Given the description of an element on the screen output the (x, y) to click on. 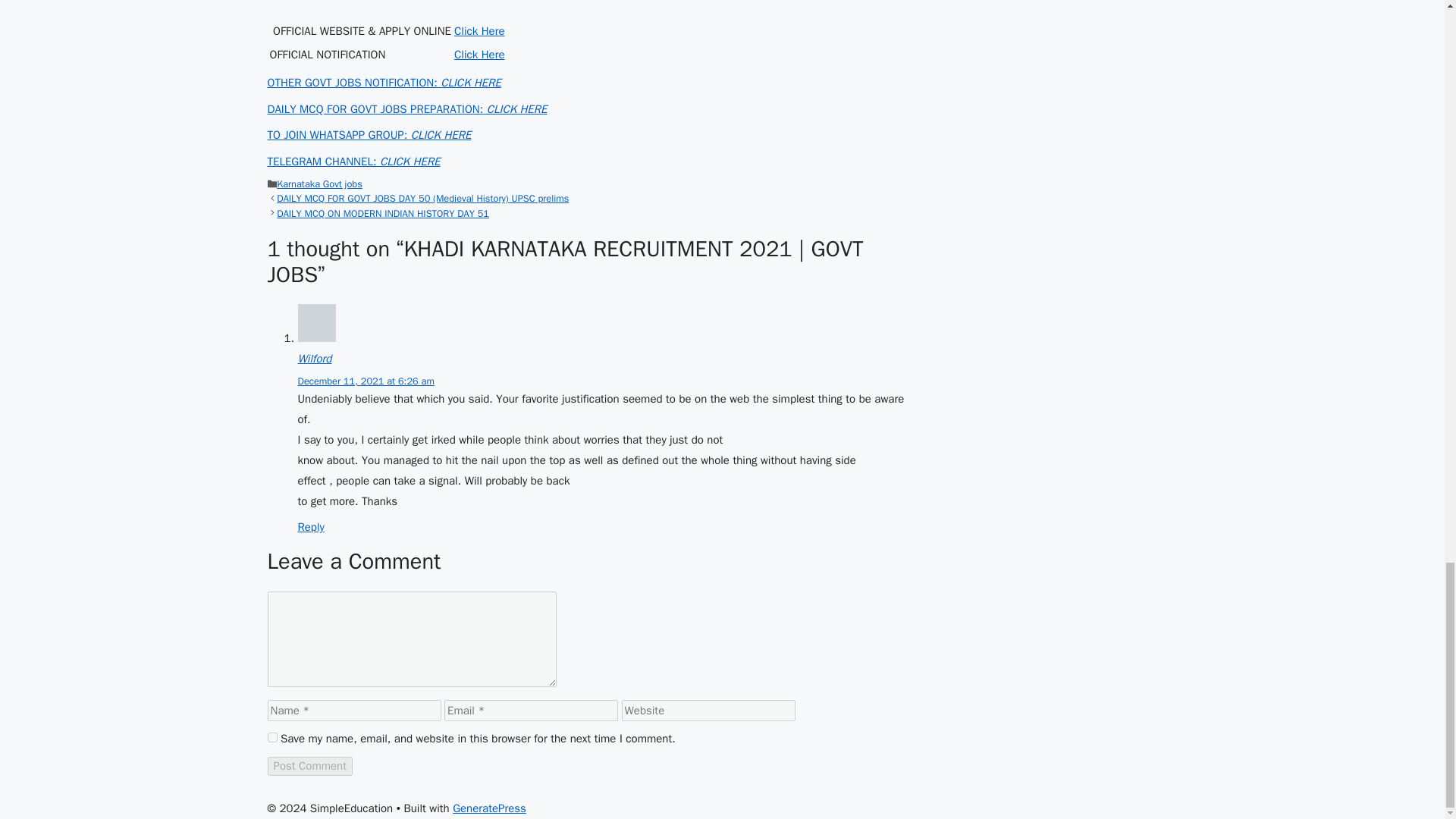
Wilford (314, 358)
TO JOIN WHATSAPP GROUP: CLICK HERE (368, 134)
DAILY MCQ FOR GOVT JOBS PREPARATION: CLICK HERE (406, 109)
TELEGRAM CHANNEL: CLICK HERE (352, 161)
yes (271, 737)
Post Comment (309, 765)
Karnataka Govt jobs (319, 184)
Reply (310, 526)
December 11, 2021 at 6:26 am (365, 381)
OTHER GOVT JOBS NOTIFICATION: CLICK HERE (383, 82)
Click Here (479, 54)
Post Comment (309, 765)
DAILY MCQ ON MODERN INDIAN HISTORY DAY 51 (382, 214)
Click Here (479, 30)
